Given the description of an element on the screen output the (x, y) to click on. 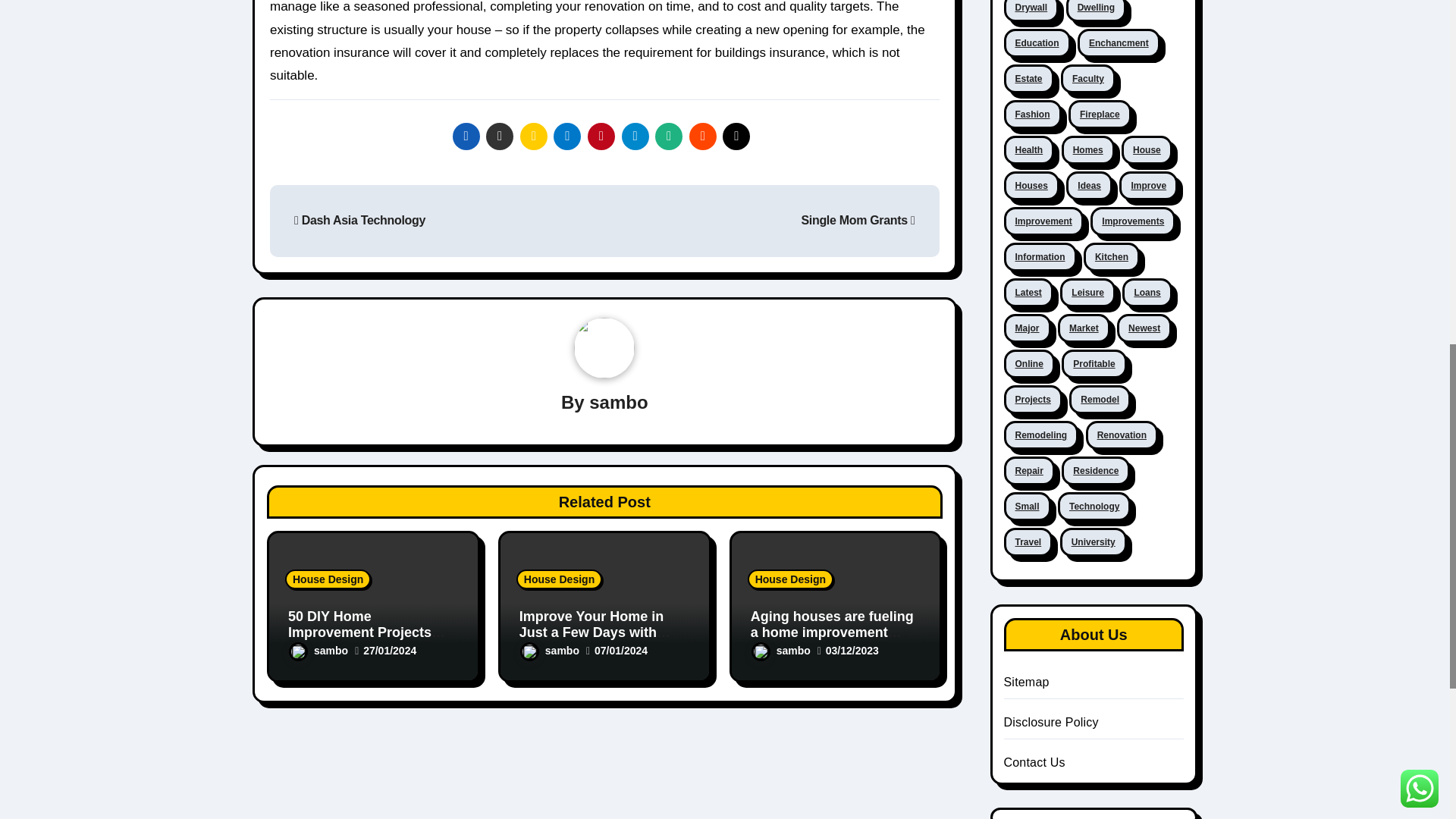
sambo (618, 402)
sambo (317, 650)
Dash Asia Technology (359, 219)
House Design (328, 578)
House Design (559, 578)
Single Mom Grants (857, 219)
